Given the description of an element on the screen output the (x, y) to click on. 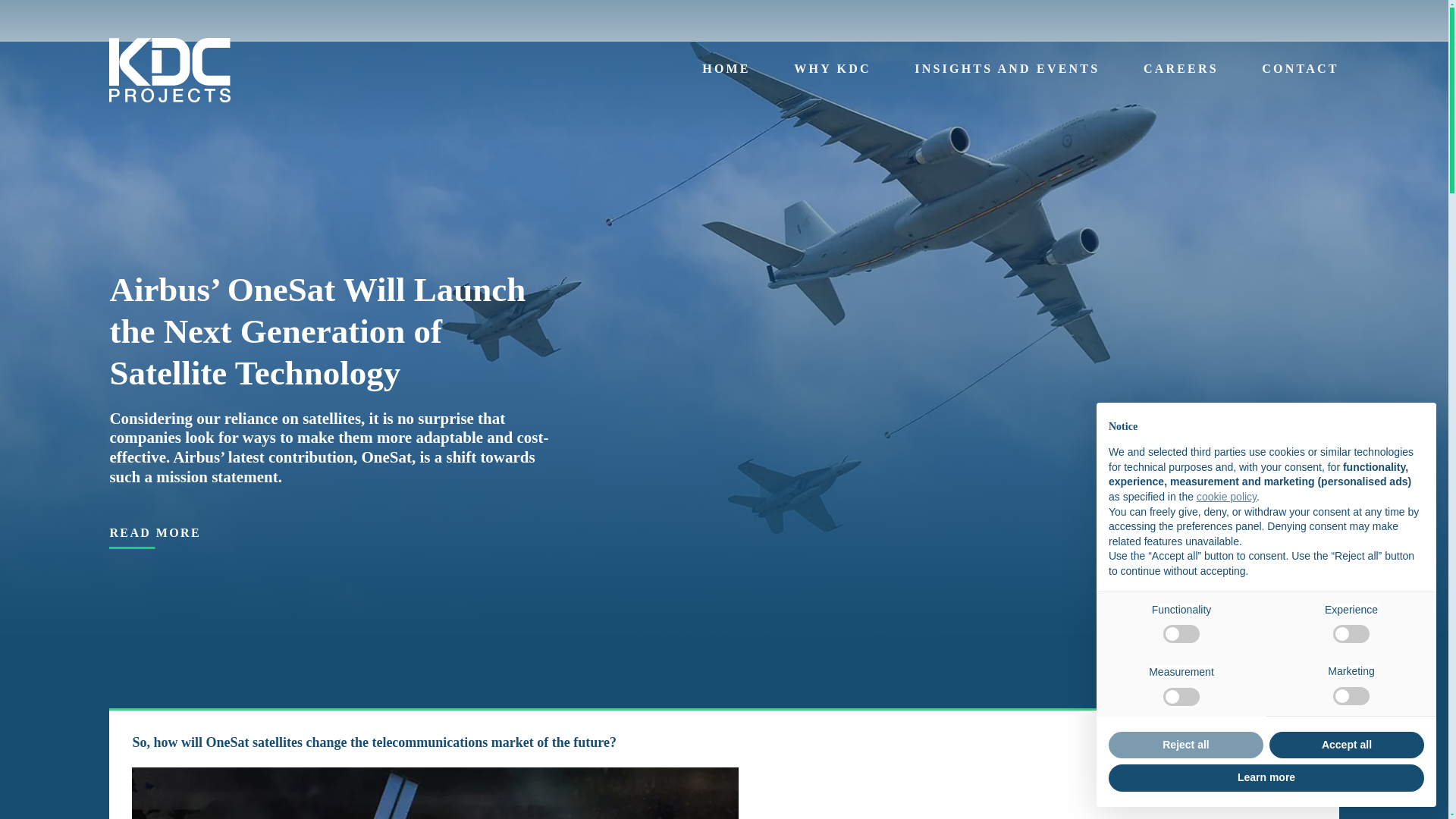
CONTACT (1300, 70)
INSIGHTS AND EVENTS (1006, 70)
READ MORE (154, 532)
CAREERS (1180, 70)
WHY KDC (831, 70)
false (1181, 696)
false (1351, 696)
false (1351, 633)
HOME (1181, 633)
